Given the description of an element on the screen output the (x, y) to click on. 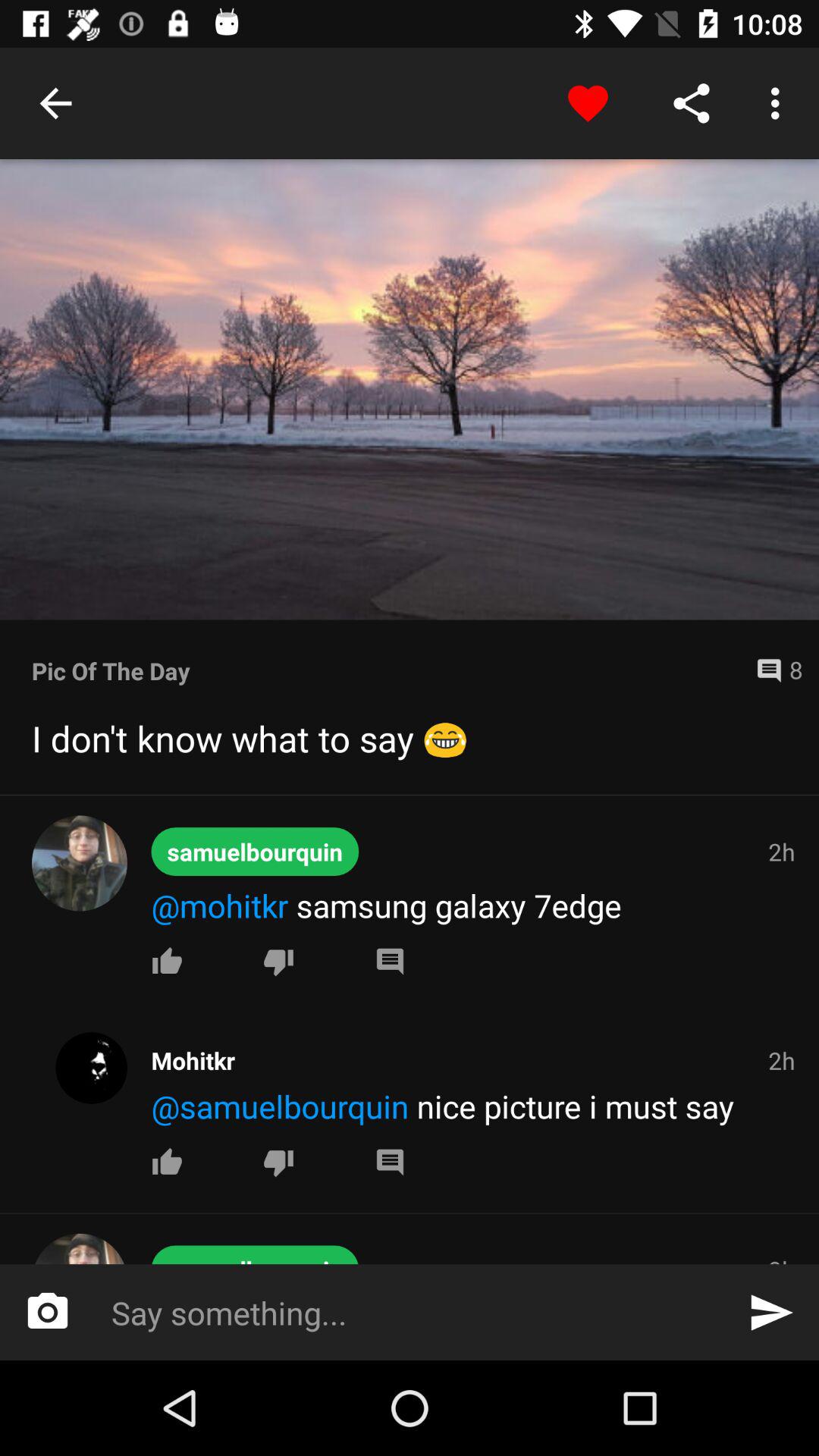
open the i don t (409, 738)
